Given the description of an element on the screen output the (x, y) to click on. 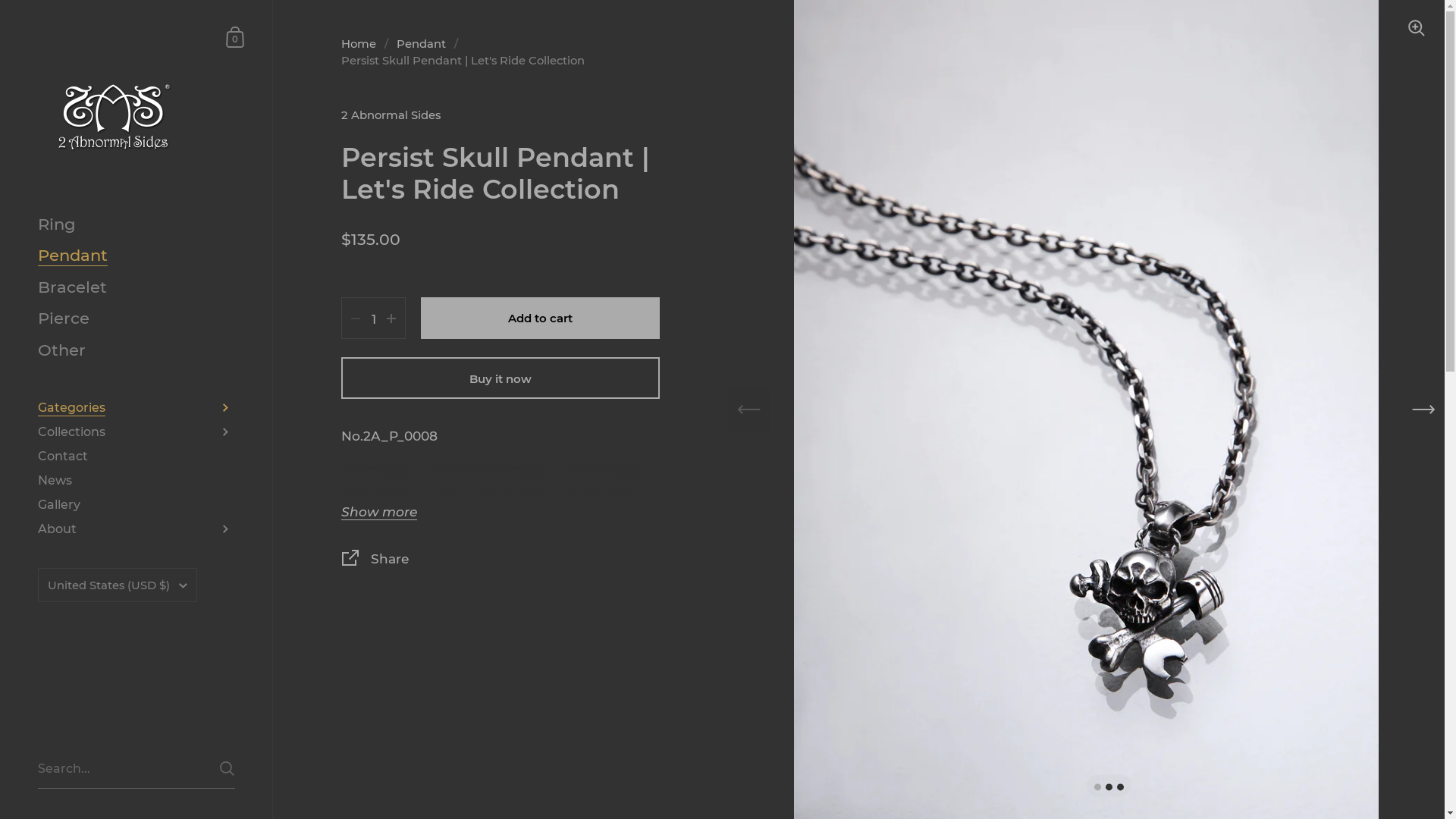
Add to cart Element type: text (539, 317)
Shopping Cart
0 Element type: text (235, 36)
Pendant Element type: text (420, 43)
Collections Element type: text (136, 432)
Ring Element type: text (136, 223)
Buy it now Element type: text (500, 377)
News Element type: text (136, 480)
Other Element type: text (136, 349)
About Element type: text (136, 529)
Gallery Element type: text (136, 504)
Show more Element type: text (379, 512)
Contact Element type: text (136, 456)
Pierce Element type: text (136, 317)
Pendant Element type: text (136, 254)
United States (USD $) Element type: text (117, 584)
Gategories Element type: text (136, 407)
Skip to content Element type: text (0, 0)
Bracelet Element type: text (136, 286)
Home Element type: text (358, 43)
Share Element type: text (500, 561)
